Given the description of an element on the screen output the (x, y) to click on. 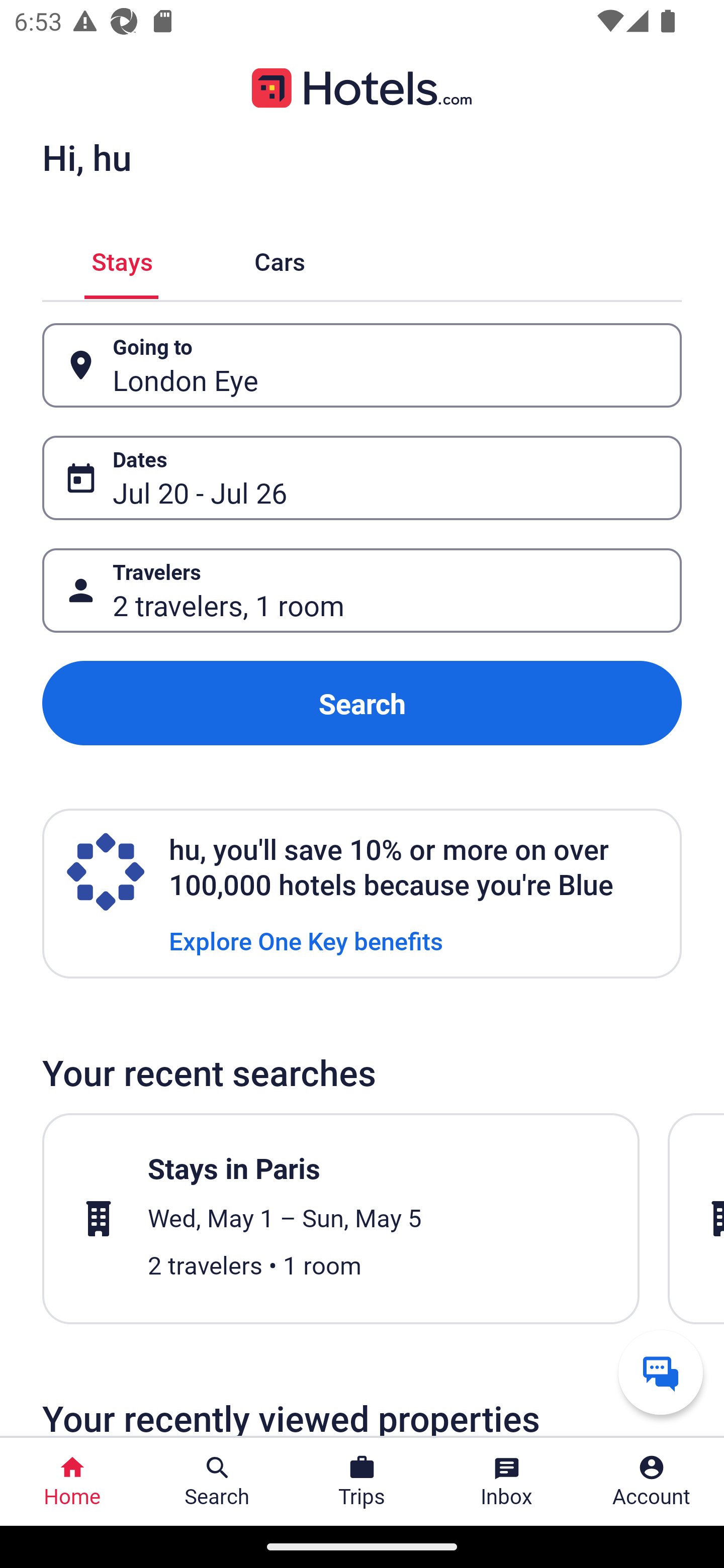
Hi, hu (86, 156)
Cars (279, 259)
Going to Button London Eye (361, 365)
Dates Button Jul 20 - Jul 26 (361, 477)
Travelers Button 2 travelers, 1 room (361, 590)
Search (361, 702)
Get help from a virtual agent (660, 1371)
Search Search Button (216, 1481)
Trips Trips Button (361, 1481)
Inbox Inbox Button (506, 1481)
Account Profile. Button (651, 1481)
